Given the description of an element on the screen output the (x, y) to click on. 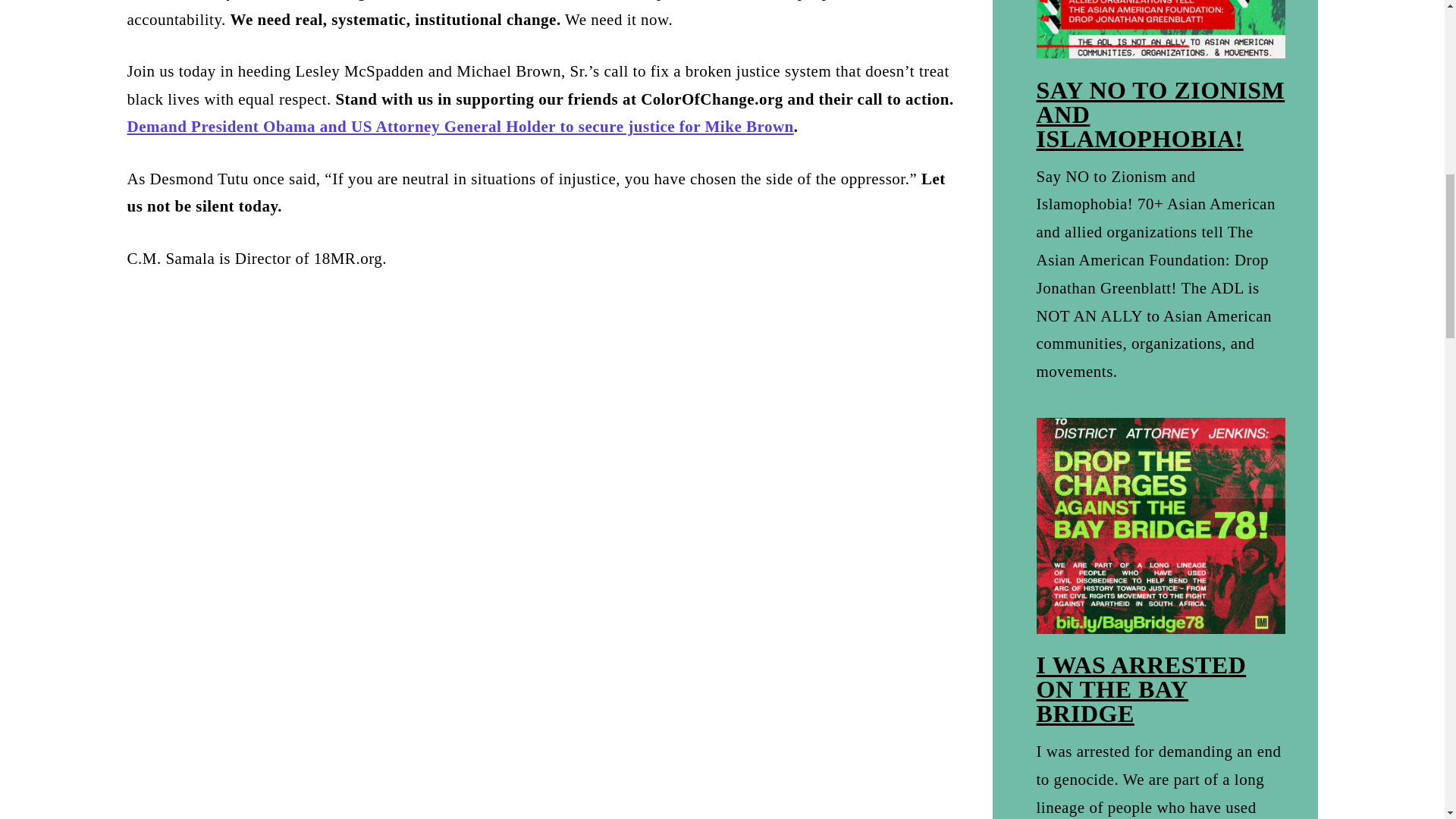
I WAS ARRESTED ON THE BAY BRIDGE (1141, 689)
SAY NO TO ZIONISM AND ISLAMOPHOBIA! (1160, 114)
